Given the description of an element on the screen output the (x, y) to click on. 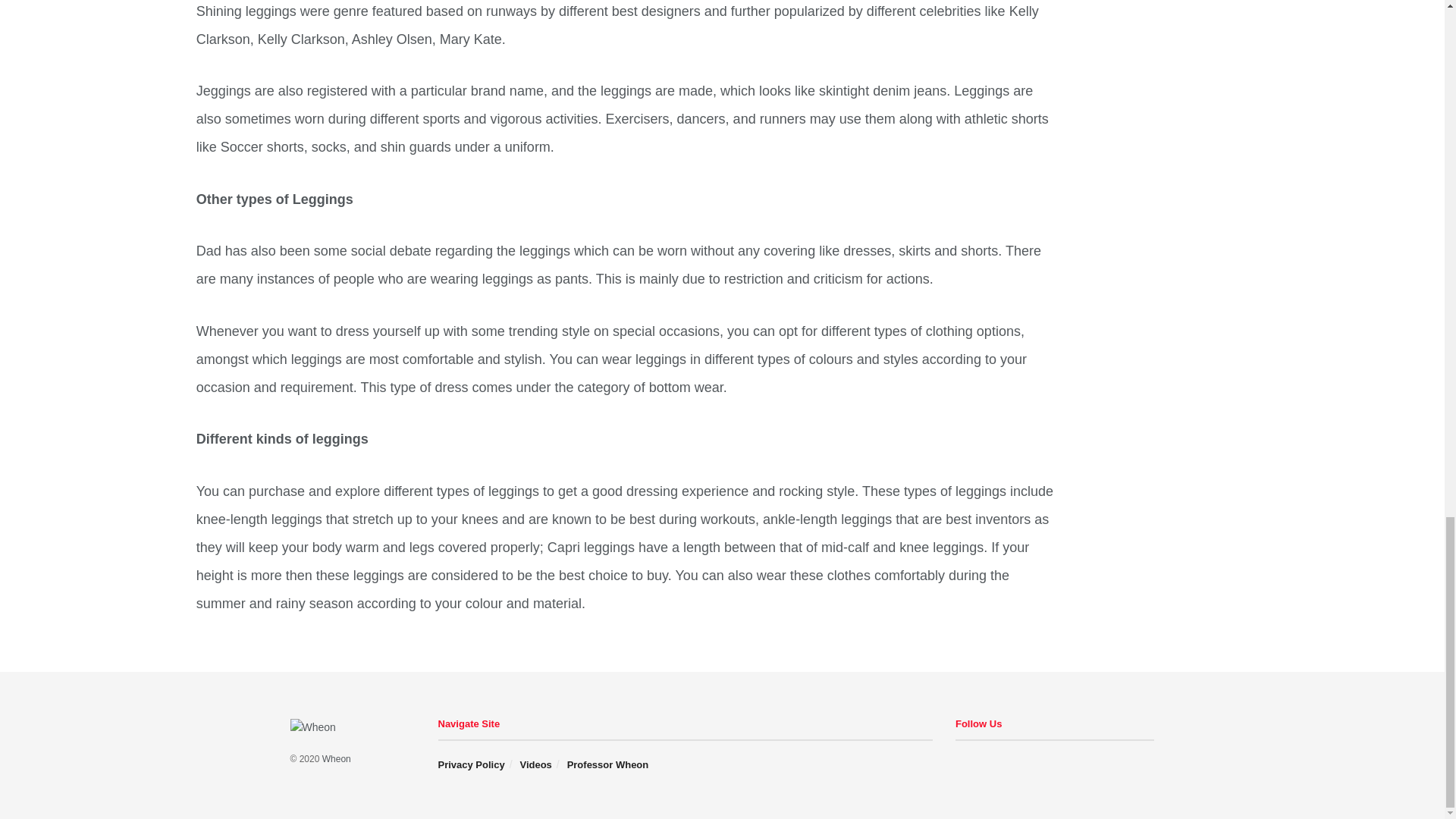
Videos (535, 764)
Professor Wheon (608, 764)
Wheon (335, 758)
Privacy Policy (471, 764)
